Given the description of an element on the screen output the (x, y) to click on. 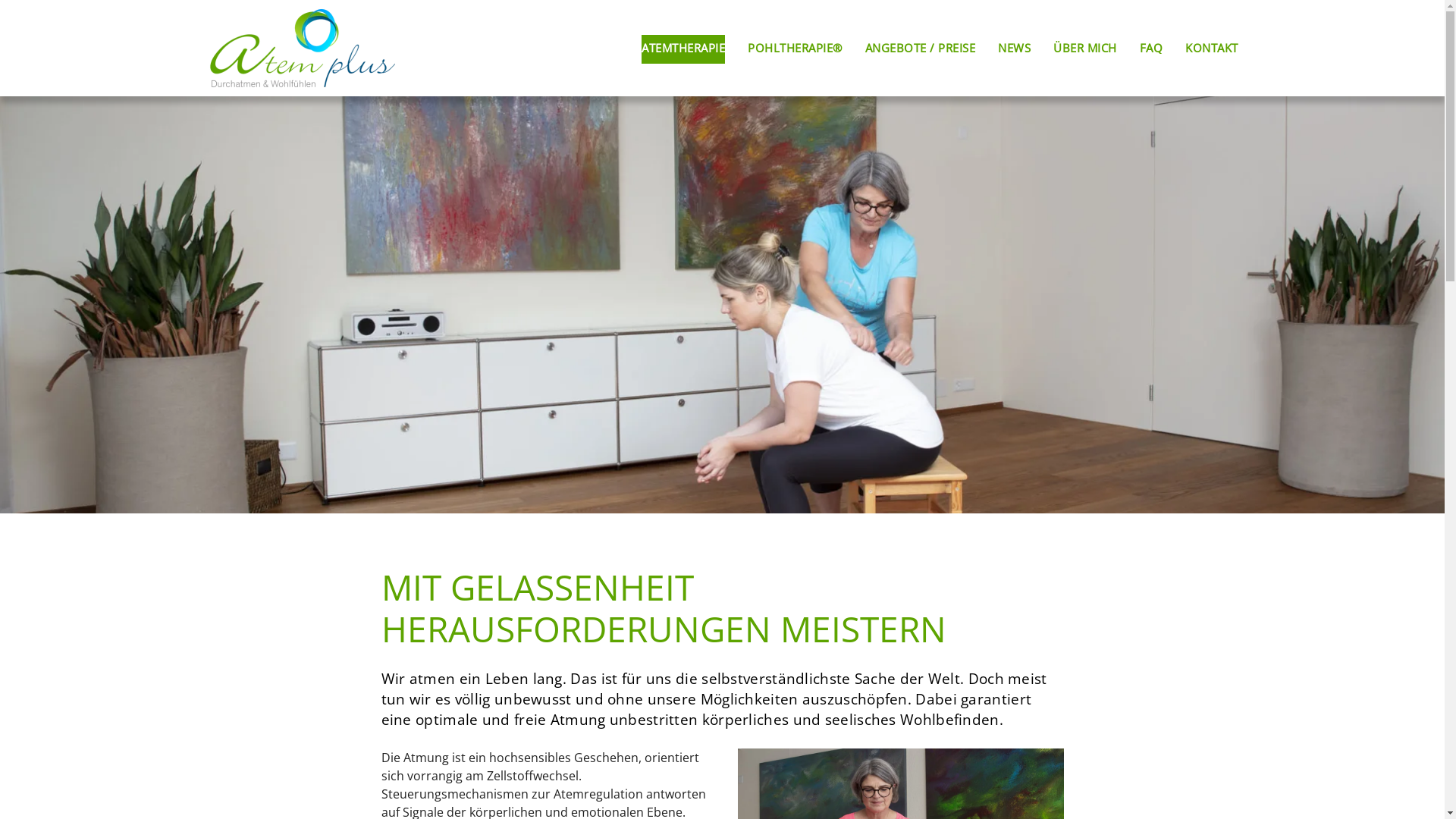
FAQ Element type: text (1150, 48)
KONTAKT Element type: text (1211, 48)
ATEMTHERAPIE Element type: text (682, 48)
ANGEBOTE / PREISE Element type: text (919, 48)
NEWS Element type: text (1013, 48)
